Given the description of an element on the screen output the (x, y) to click on. 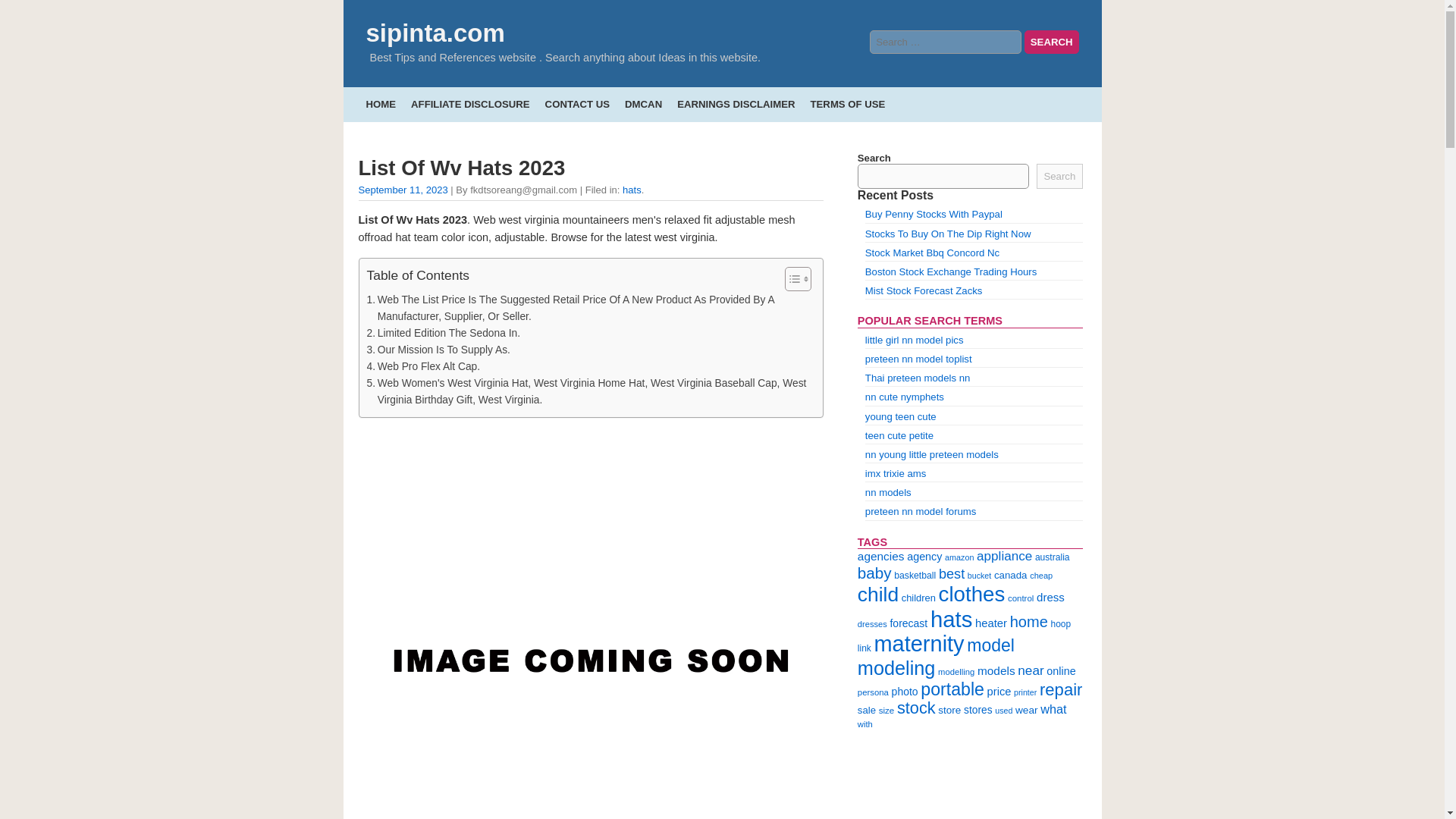
CONTACT US (577, 103)
Search (1058, 176)
hats (632, 189)
Search (1051, 42)
Mist Stock Forecast Zacks (923, 290)
sipinta.com (434, 32)
little girl nn model pics (913, 339)
